Given the description of an element on the screen output the (x, y) to click on. 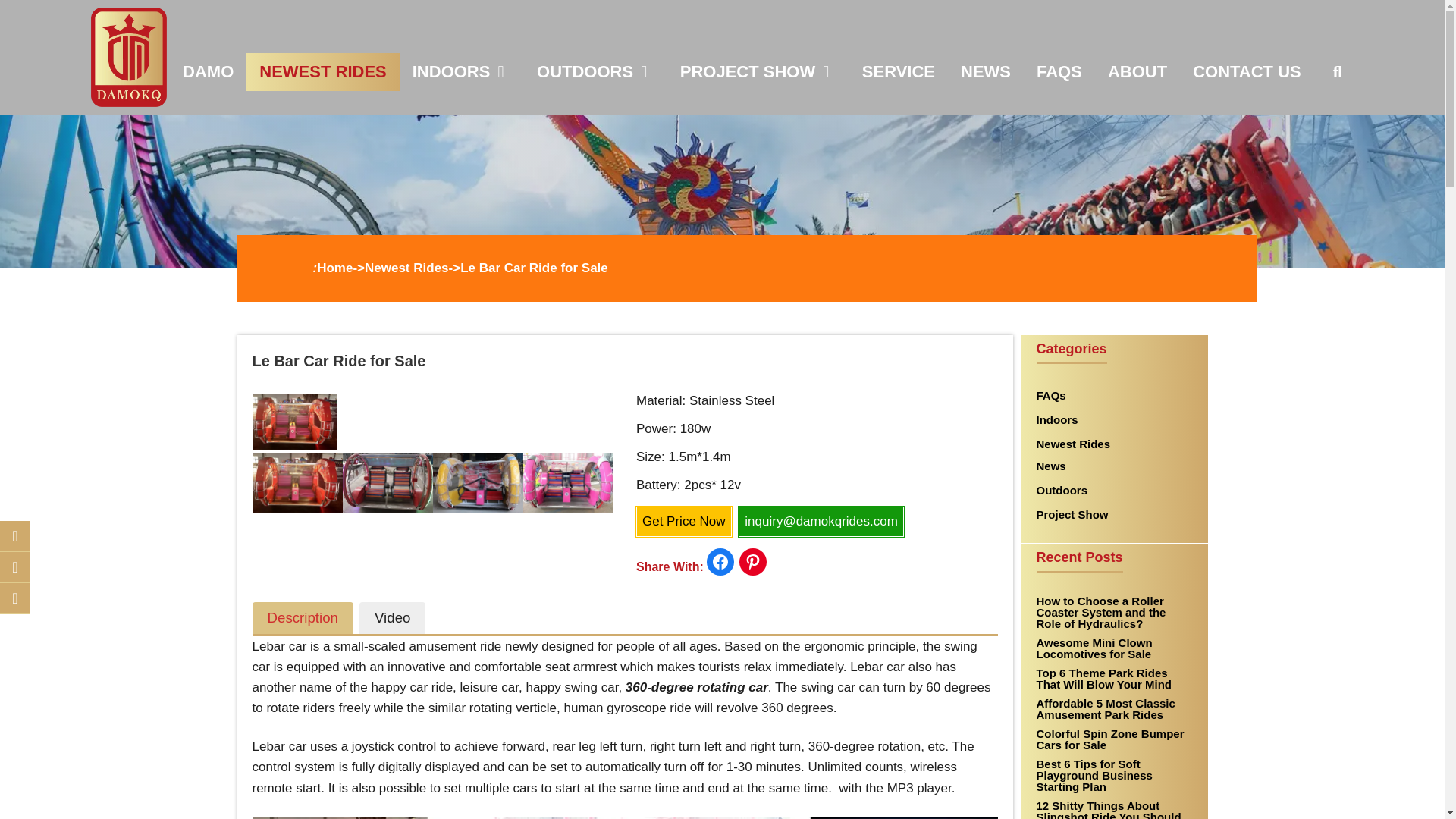
INDOORS (461, 71)
Facebook (15, 567)
NEWEST RIDES (322, 71)
wpforms-submit (582, 355)
Pinterest (15, 598)
DAMO (208, 71)
Contact (15, 535)
